Given the description of an element on the screen output the (x, y) to click on. 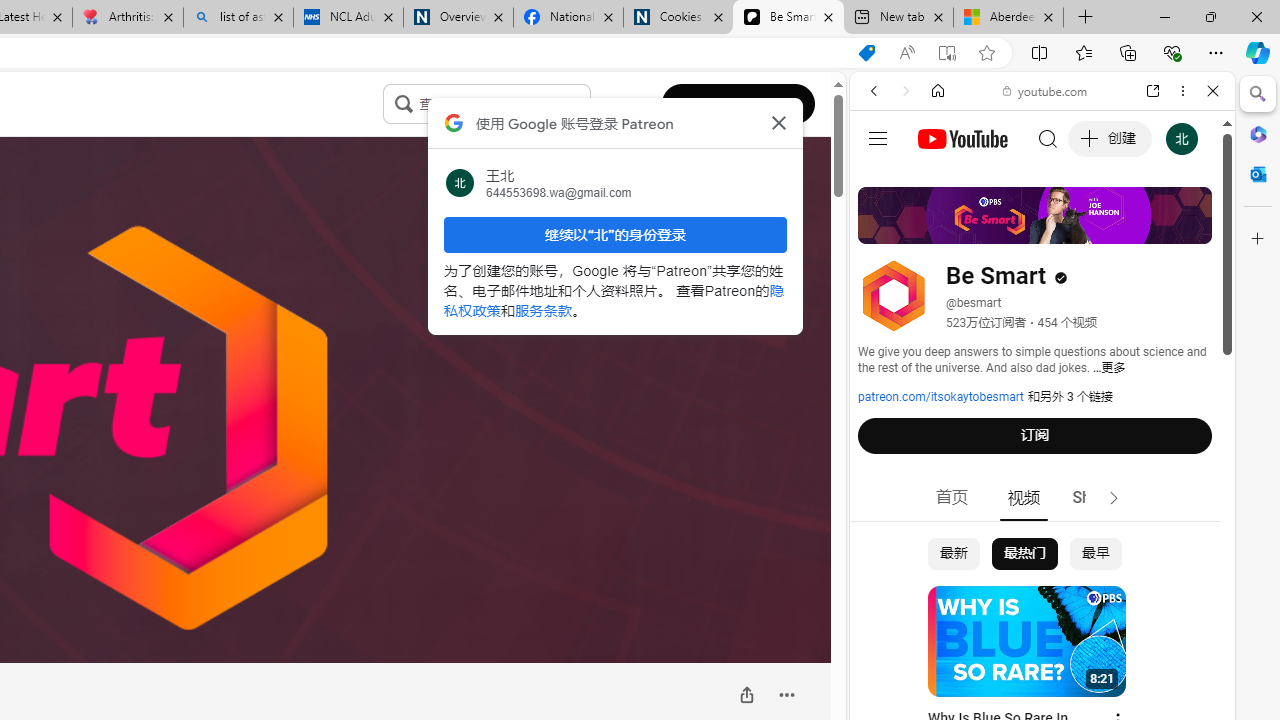
More options (1182, 91)
Search videos from youtube.com (1005, 657)
NCL Adult Asthma Inhaler Choice Guideline (348, 17)
Aberdeen, Hong Kong SAR hourly forecast | Microsoft Weather (1008, 17)
patreon.com/itsokaytobesmart (941, 397)
Enter Immersive Reader (F9) (946, 53)
Class: sc-jrQzAO inFiZu (403, 103)
VIDEOS (1006, 228)
Open link in new tab (1153, 91)
Search Filter, WEB (882, 228)
#you (1042, 445)
